Given the description of an element on the screen output the (x, y) to click on. 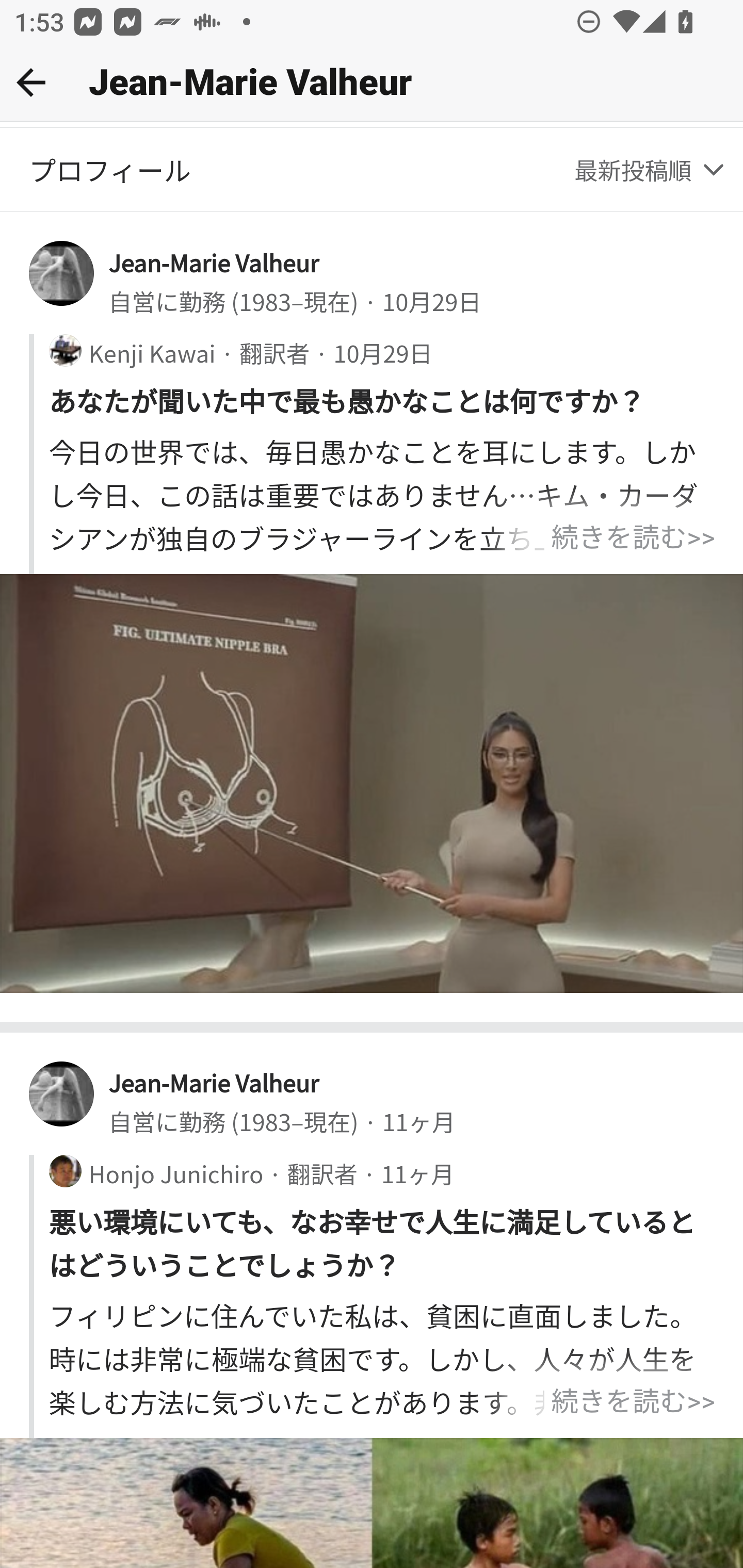
Back (30, 82)
最新投稿順 (650, 170)
Jean-Marie Valheurさんのプロフィール写真 (61, 274)
Jean-Marie Valheur (213, 261)
Kenji Kawaiさんのプロフィール写真 (64, 350)
Jean-Marie Valheurさんのプロフィール写真 (61, 1093)
Jean-Marie Valheur (213, 1081)
Honjo Junichiroさんのプロフィール写真 (64, 1171)
